Given the description of an element on the screen output the (x, y) to click on. 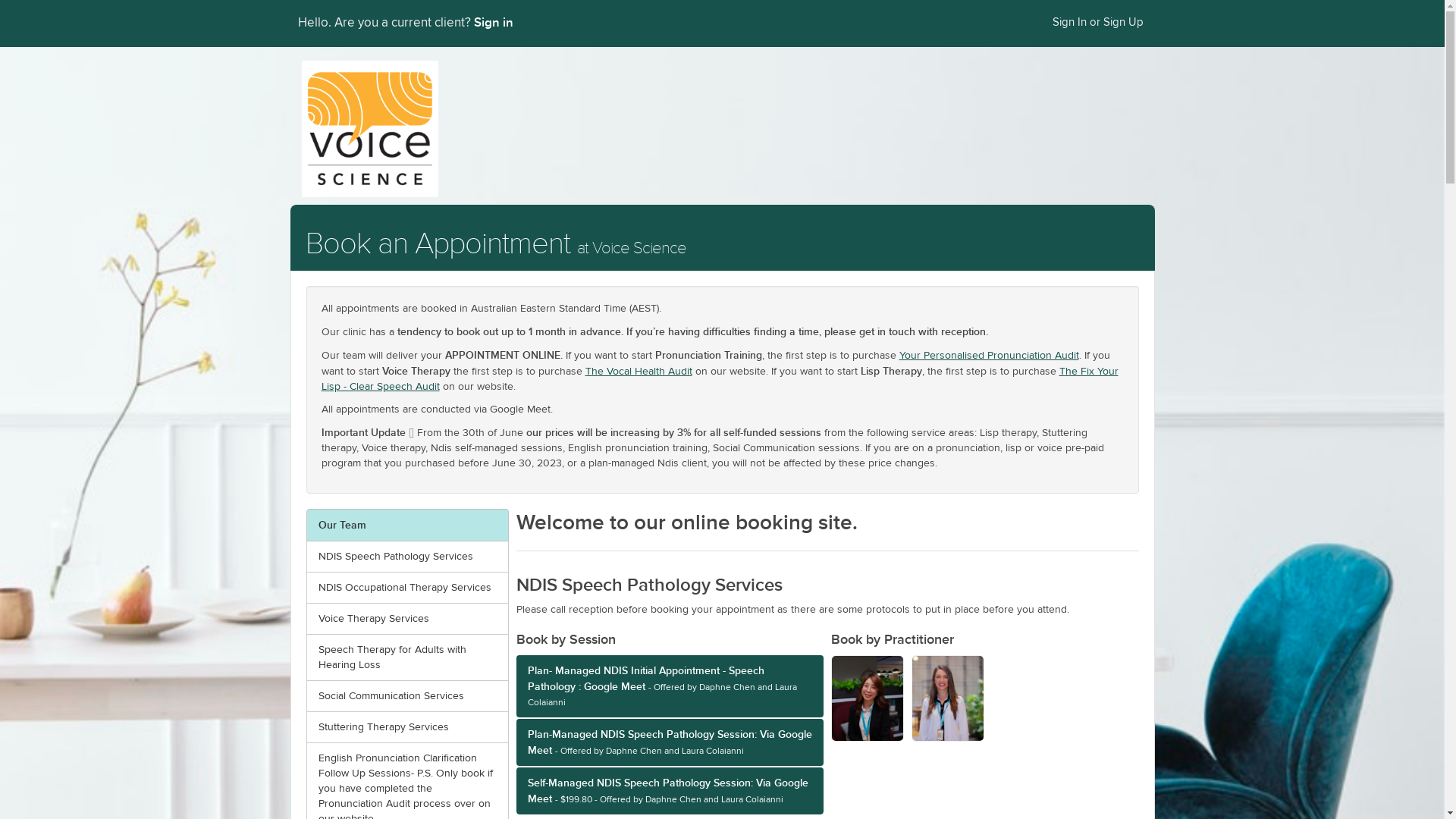
Stuttering Therapy Services Element type: text (407, 727)
Sign In or Sign Up Element type: text (1097, 22)
Voice Therapy Services Element type: text (407, 618)
Sign in Element type: text (492, 22)
Social Communication Services Element type: text (407, 696)
NDIS Occupational Therapy Services Element type: text (407, 587)
The Vocal Health Audit Element type: text (638, 371)
Our Team Element type: text (407, 524)
Your Personalised Pronunciation Audit Element type: text (989, 355)
Speech Therapy for Adults with Hearing Loss Element type: text (407, 656)
The Fix Your Lisp - Clear Speech Audit Element type: text (719, 379)
NDIS Speech Pathology Services Element type: text (407, 556)
